Given the description of an element on the screen output the (x, y) to click on. 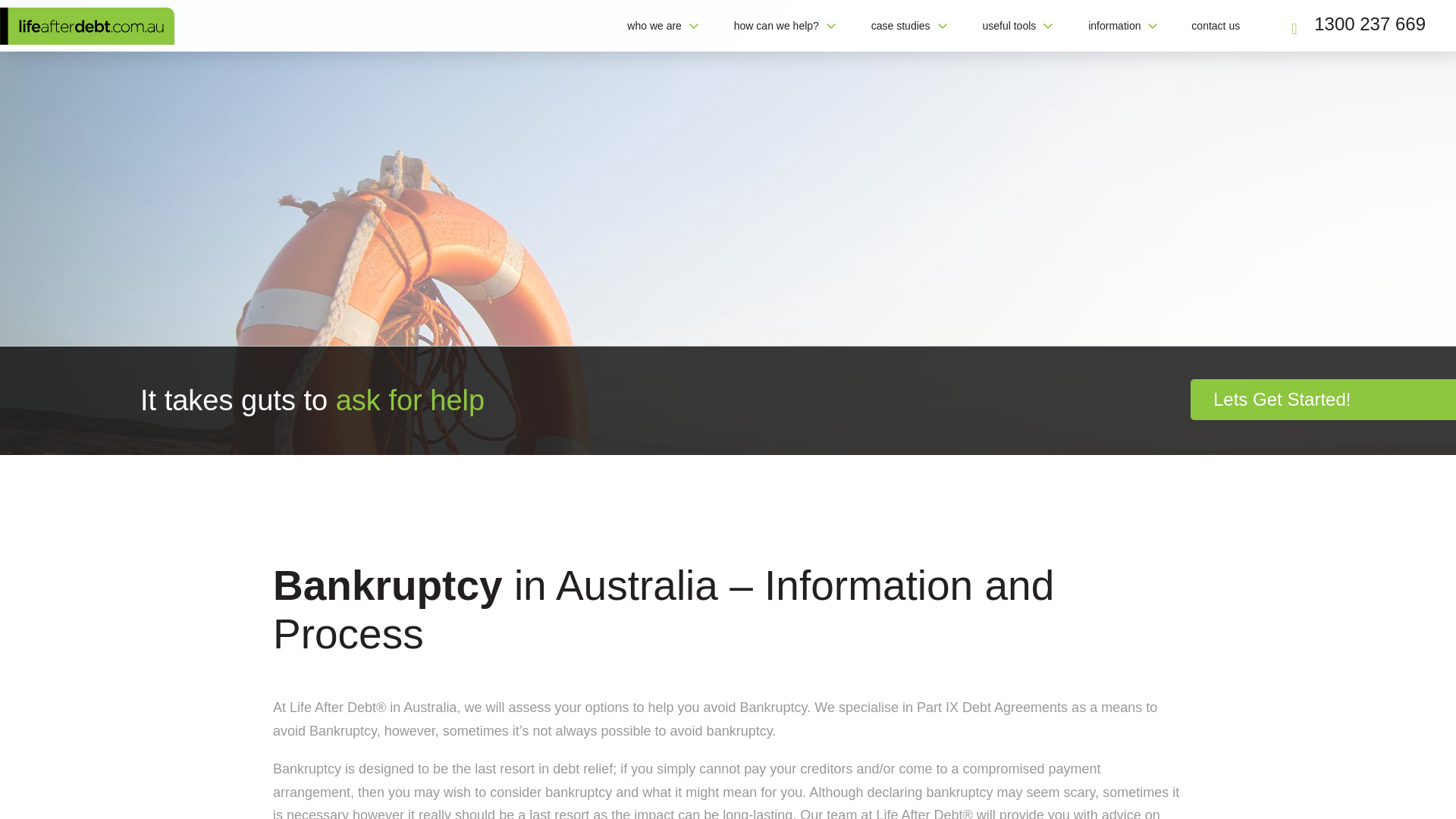
information Element type: text (1116, 25)
Submit Element type: text (779, 508)
case studies Element type: text (902, 25)
useful tools Element type: text (1010, 25)
who we are Element type: text (656, 25)
contact us Element type: text (1215, 25)
how can we help? Element type: text (778, 25)
